Given the description of an element on the screen output the (x, y) to click on. 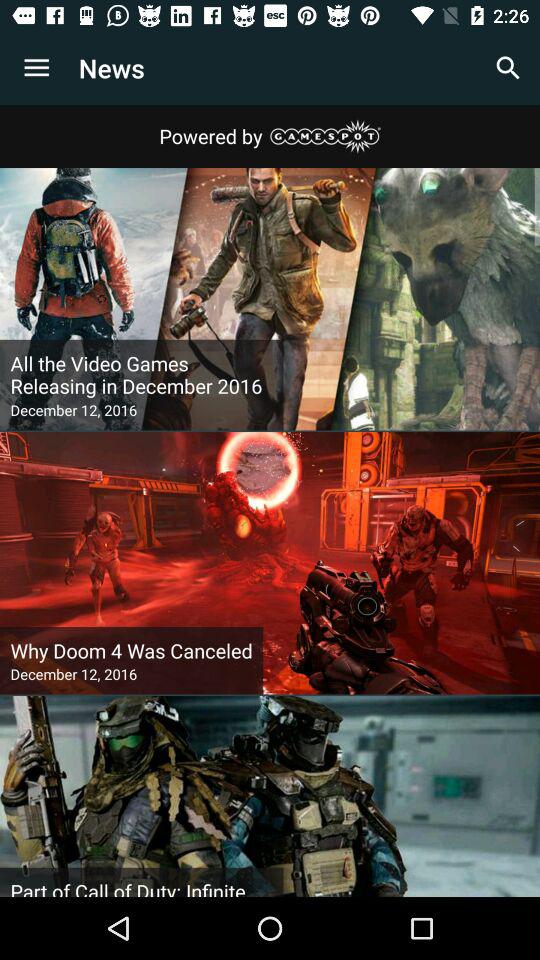
turn on the all the video icon (141, 375)
